Given the description of an element on the screen output the (x, y) to click on. 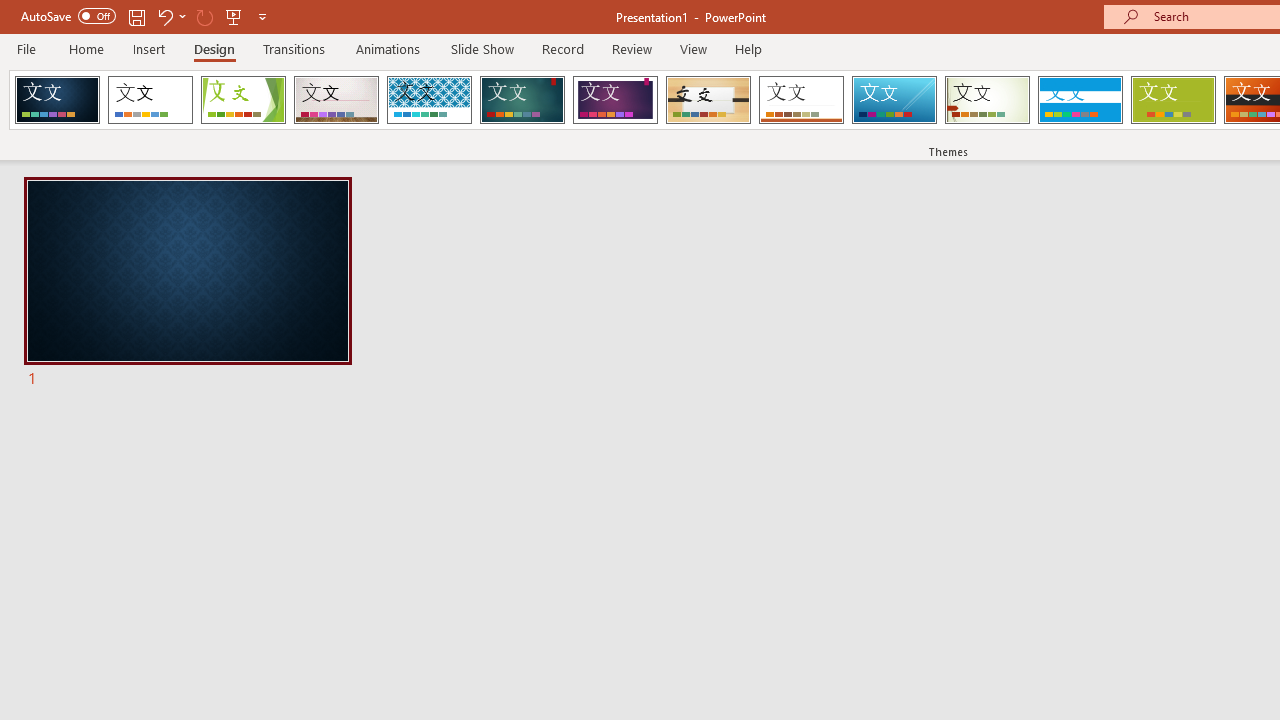
Slice Loading Preview... (893, 100)
Basis Loading Preview... (1172, 100)
Banded Loading Preview... (1080, 100)
Integral Loading Preview... (429, 100)
